Given the description of an element on the screen output the (x, y) to click on. 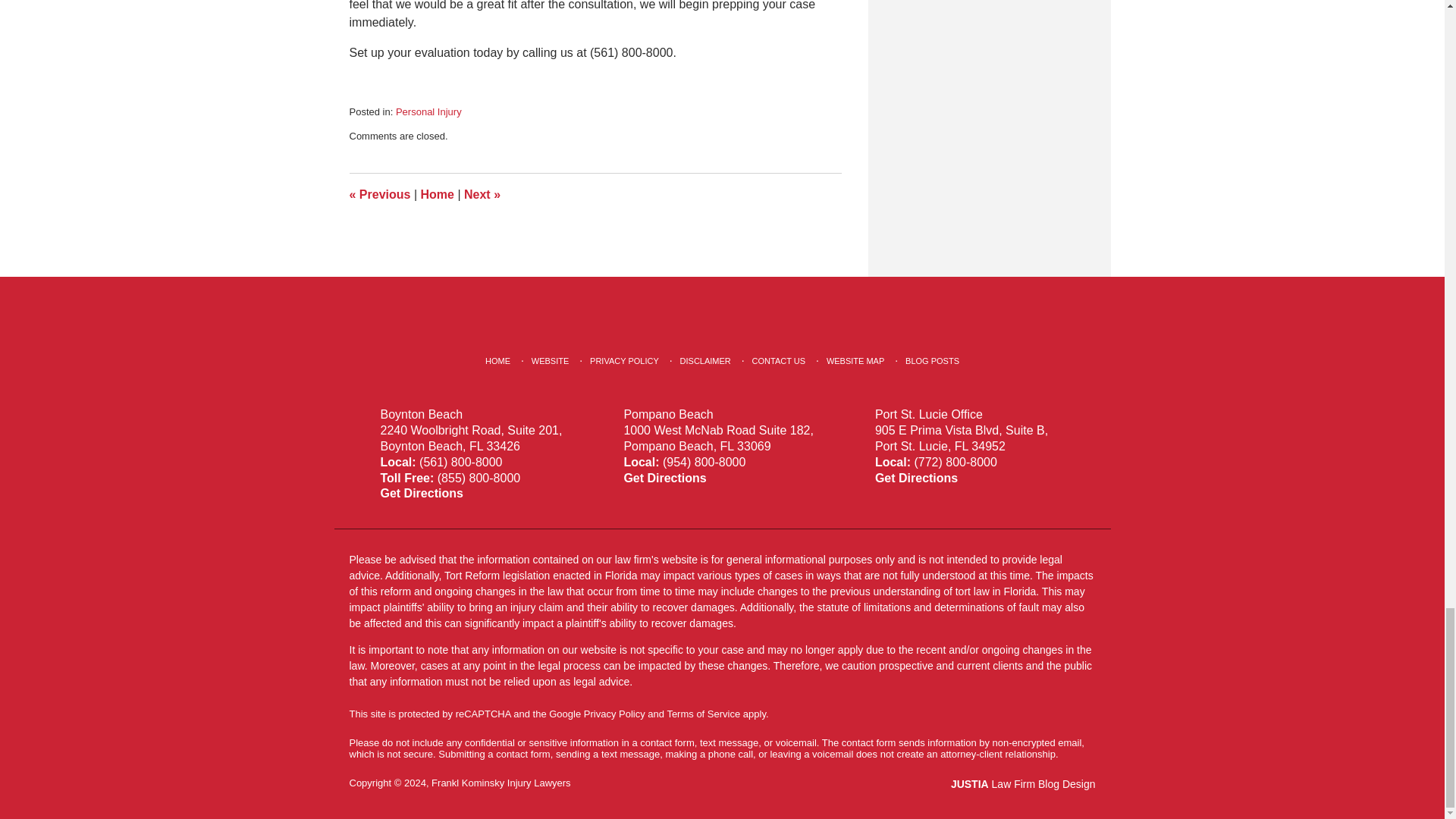
View all posts in Personal Injury (428, 111)
Personal Injury (428, 111)
What Is a Third-Party Accident Case? (379, 194)
Home (436, 194)
